Given the description of an element on the screen output the (x, y) to click on. 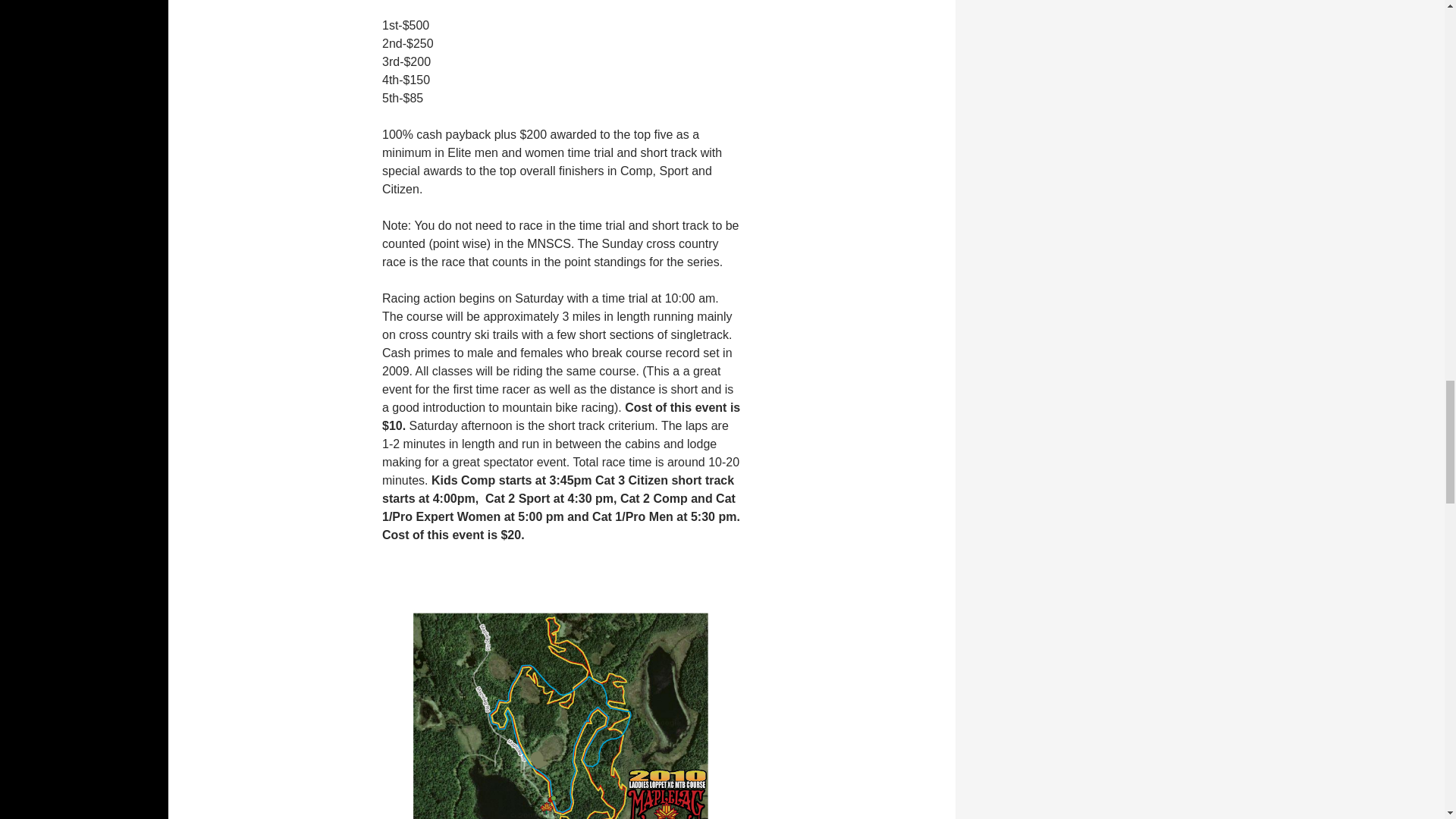
Laddies XC-MTb Course10 (561, 708)
